Given the description of an element on the screen output the (x, y) to click on. 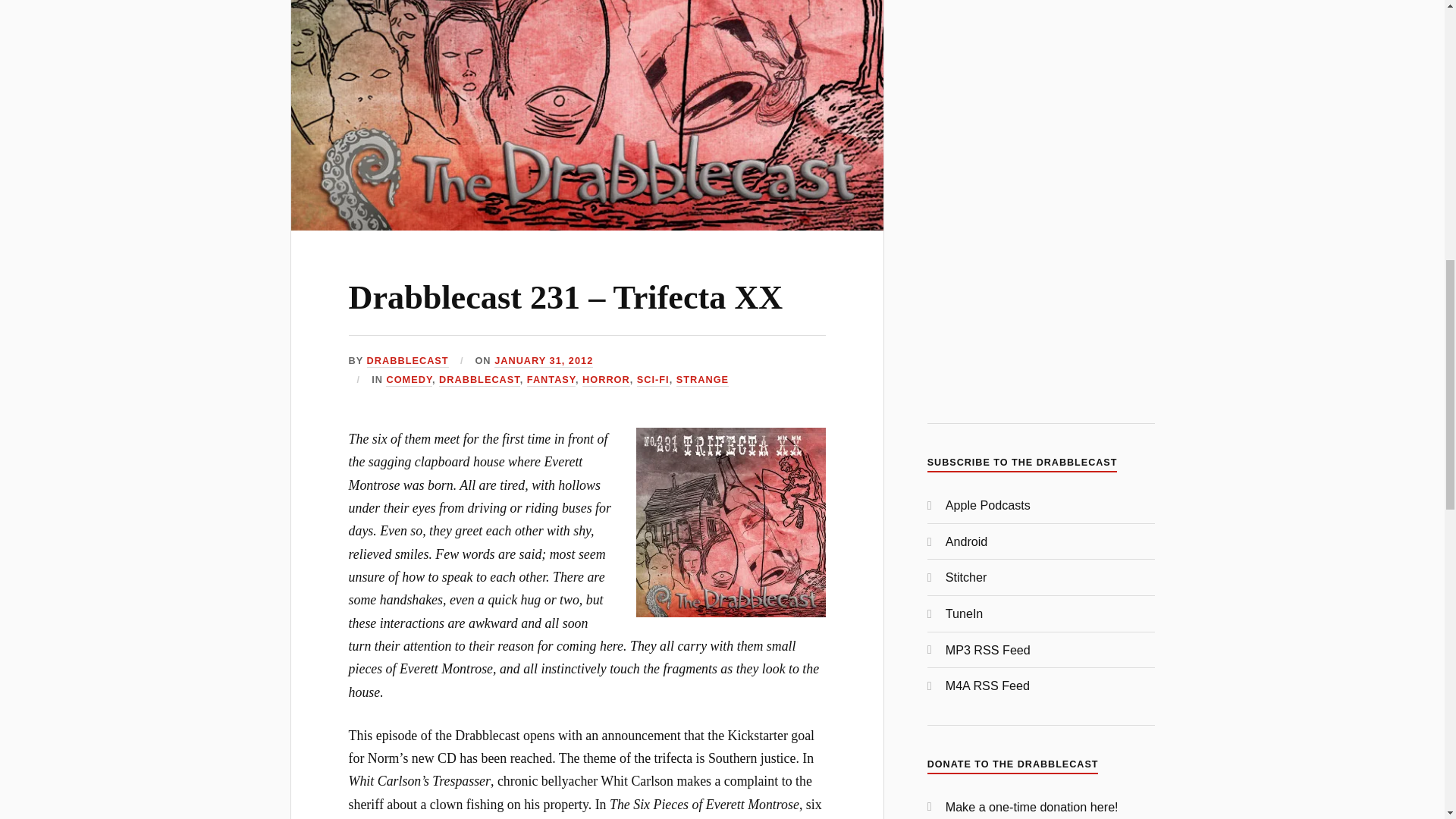
SCI-FI (653, 379)
HORROR (606, 379)
Posts by Drabblecast (407, 360)
COMEDY (408, 379)
DRABBLECAST (407, 360)
Drabblecast 231 Cover (730, 522)
FANTASY (551, 379)
JANUARY 31, 2012 (543, 360)
DRABBLECAST (479, 379)
